Given the description of an element on the screen output the (x, y) to click on. 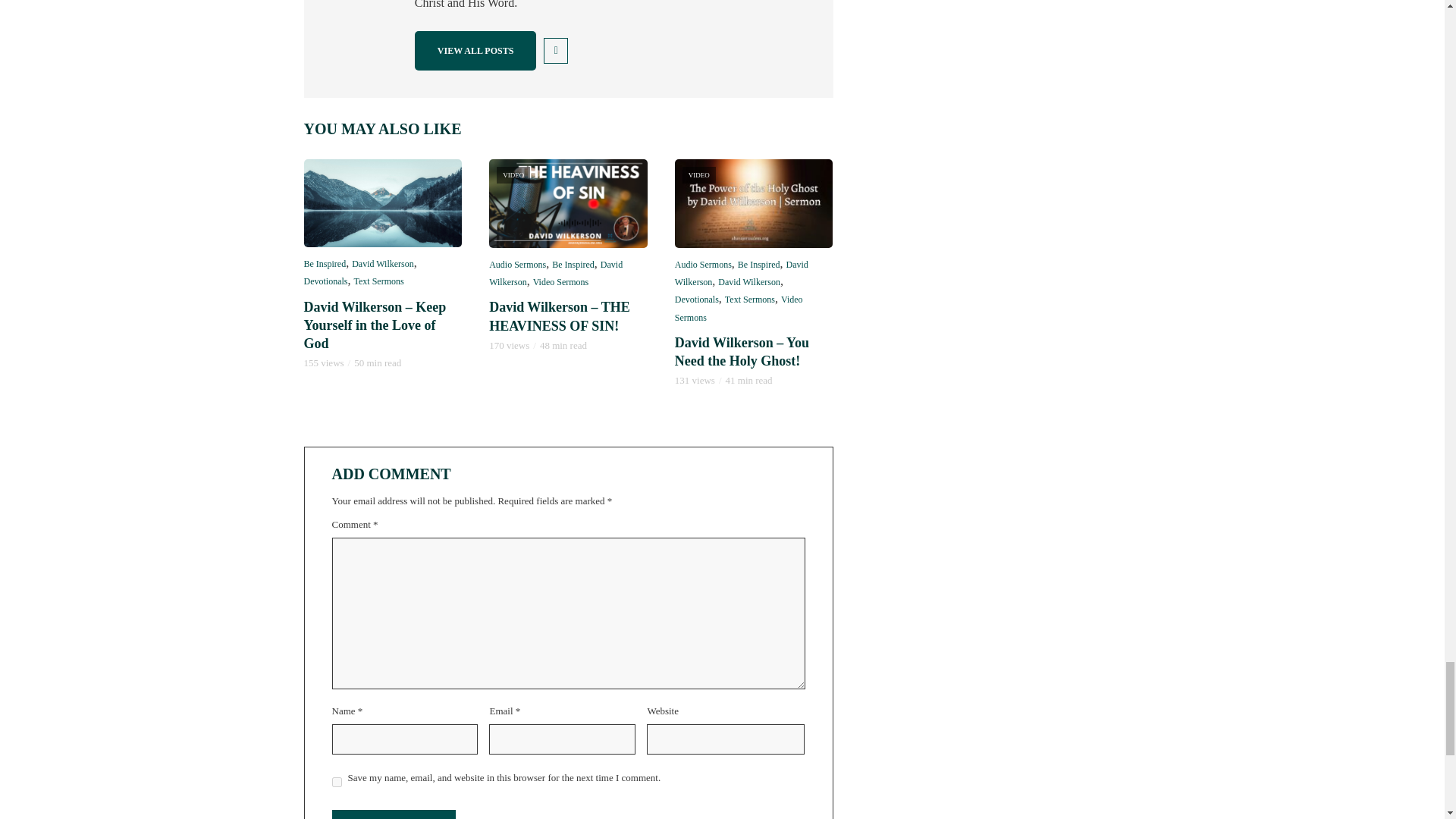
Submit Comment (393, 814)
